Given the description of an element on the screen output the (x, y) to click on. 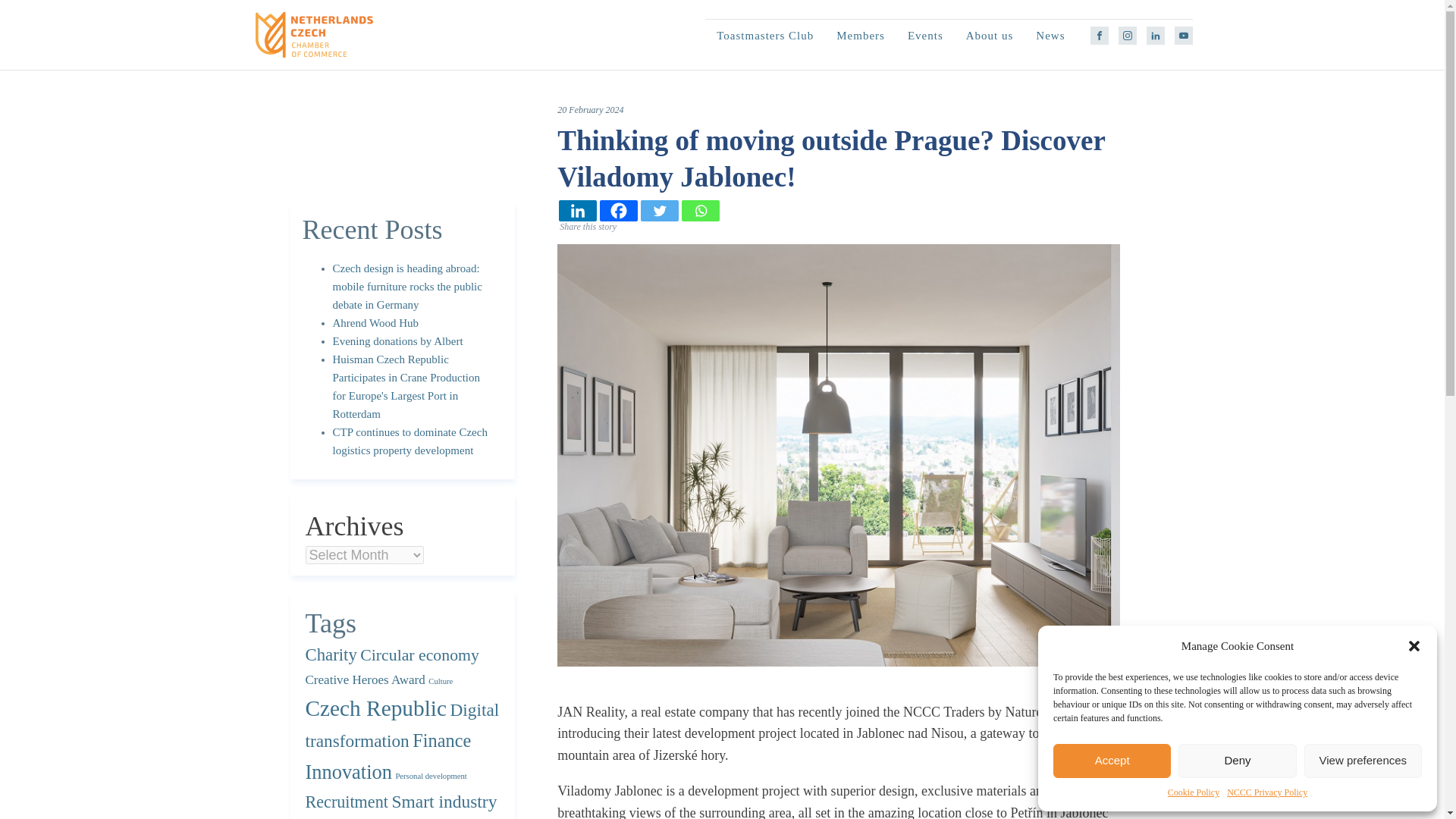
Linkedin (577, 210)
Members (860, 35)
Deny (1236, 760)
Events (925, 35)
Whatsapp (700, 210)
NCCC Privacy Policy (1267, 792)
Accept (1111, 760)
View preferences (1363, 760)
Twitter (659, 210)
Cookie Policy (1193, 792)
Toastmasters Club (764, 35)
Facebook (618, 210)
About us (990, 35)
News (1050, 35)
